Given the description of an element on the screen output the (x, y) to click on. 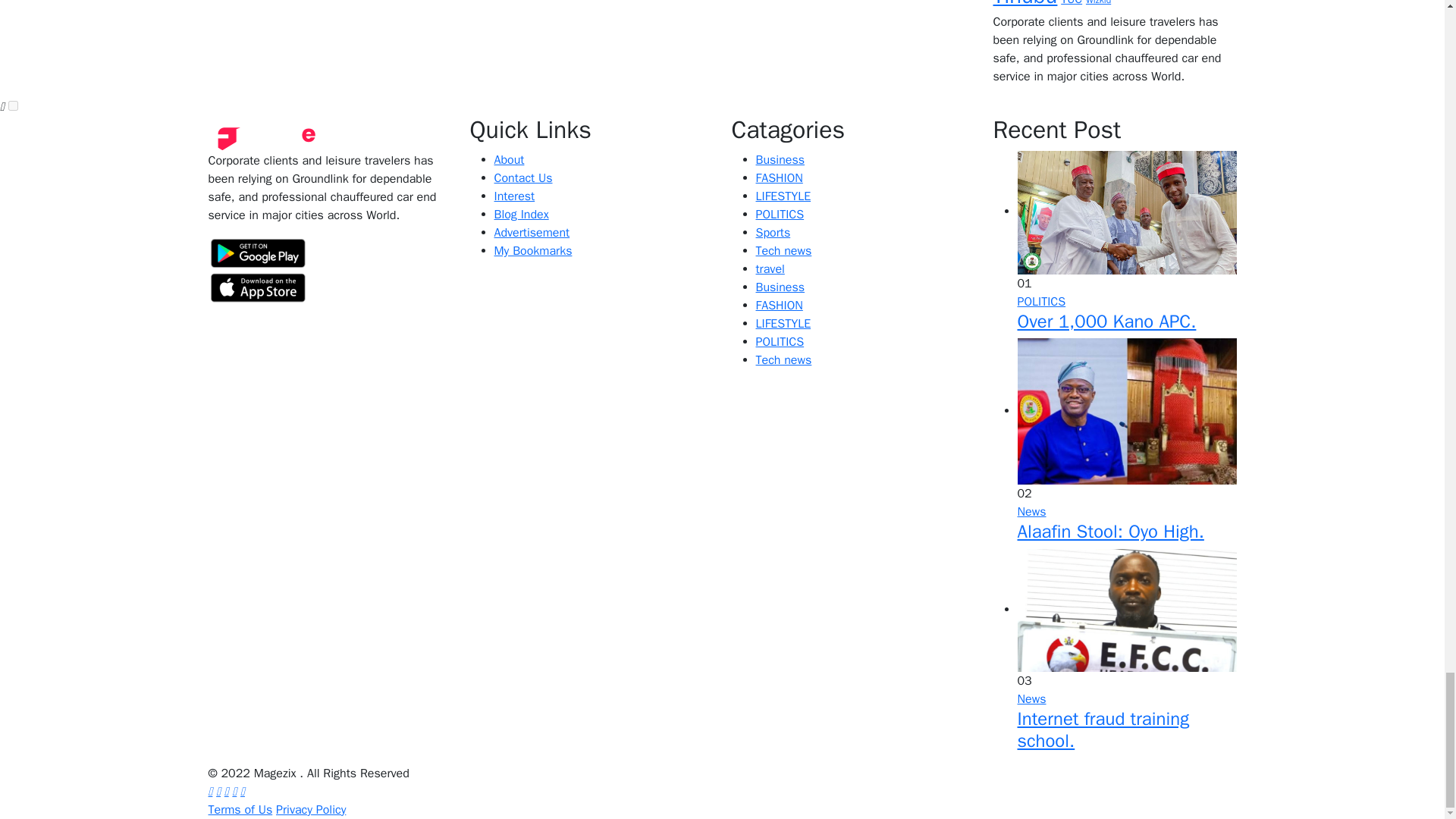
on (12, 105)
